Given the description of an element on the screen output the (x, y) to click on. 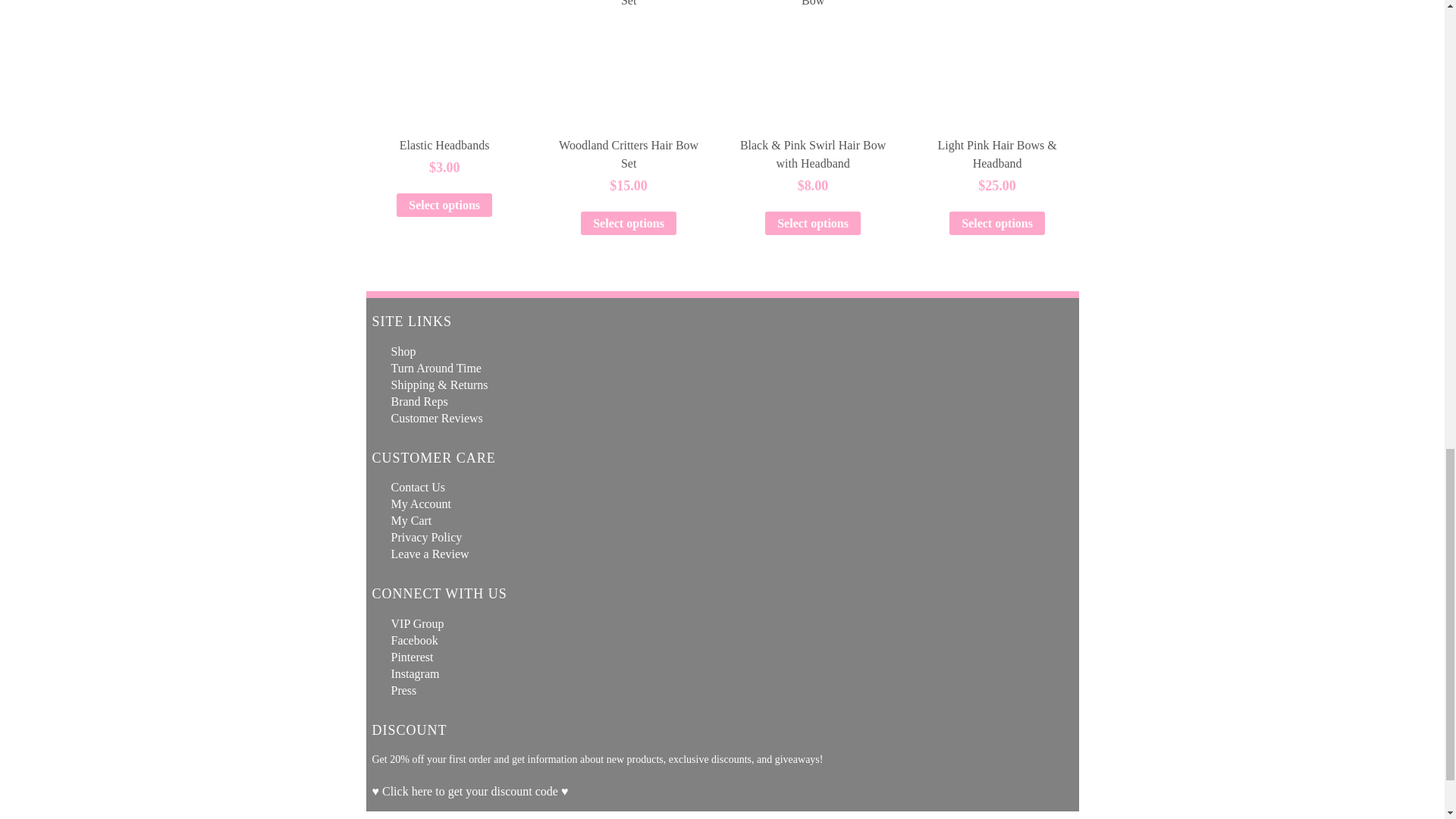
Select options (812, 223)
Select options (444, 205)
Select options (628, 223)
